Given the description of an element on the screen output the (x, y) to click on. 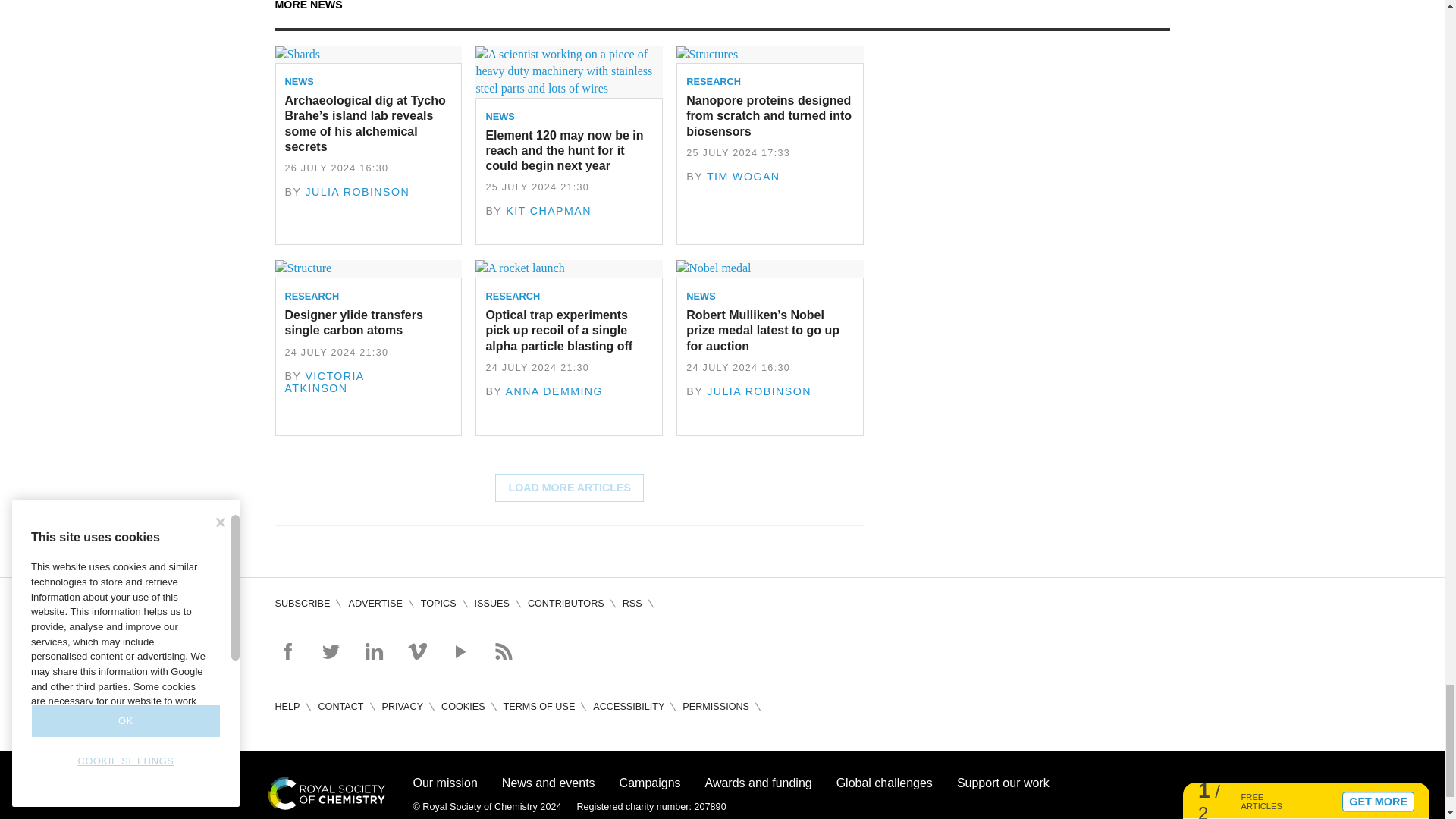
Follow on Facebook (287, 651)
Follow on Twitter (330, 651)
